Given the description of an element on the screen output the (x, y) to click on. 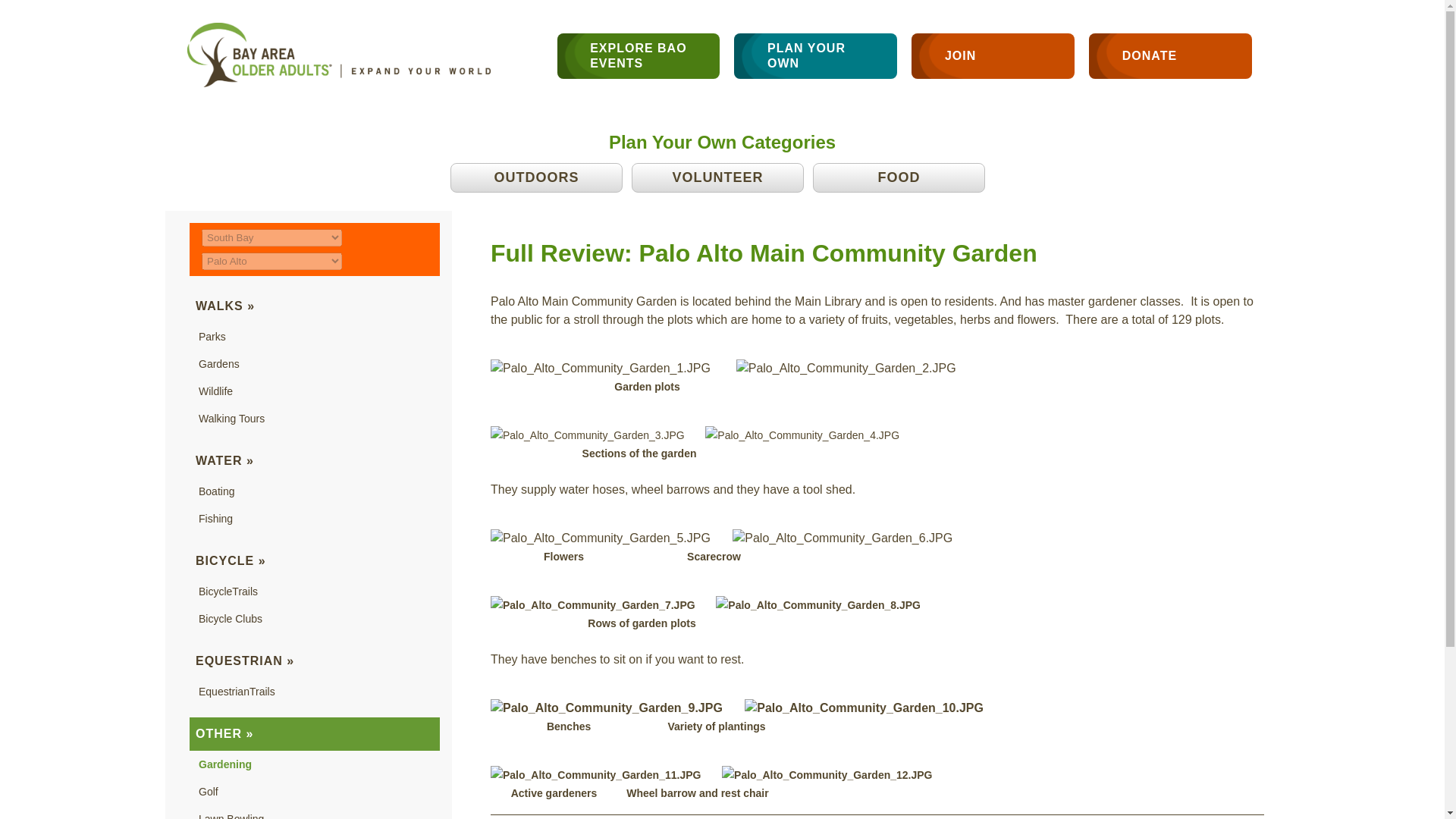
Gardens (219, 363)
BicycleTrails (227, 591)
Golf (208, 791)
Bicycle Clubs (230, 618)
Lawn Bowling (230, 816)
Wildlife (215, 390)
Parks (211, 336)
VOLUNTEER (717, 177)
JOIN (992, 55)
OUTDOORS (536, 177)
